Given the description of an element on the screen output the (x, y) to click on. 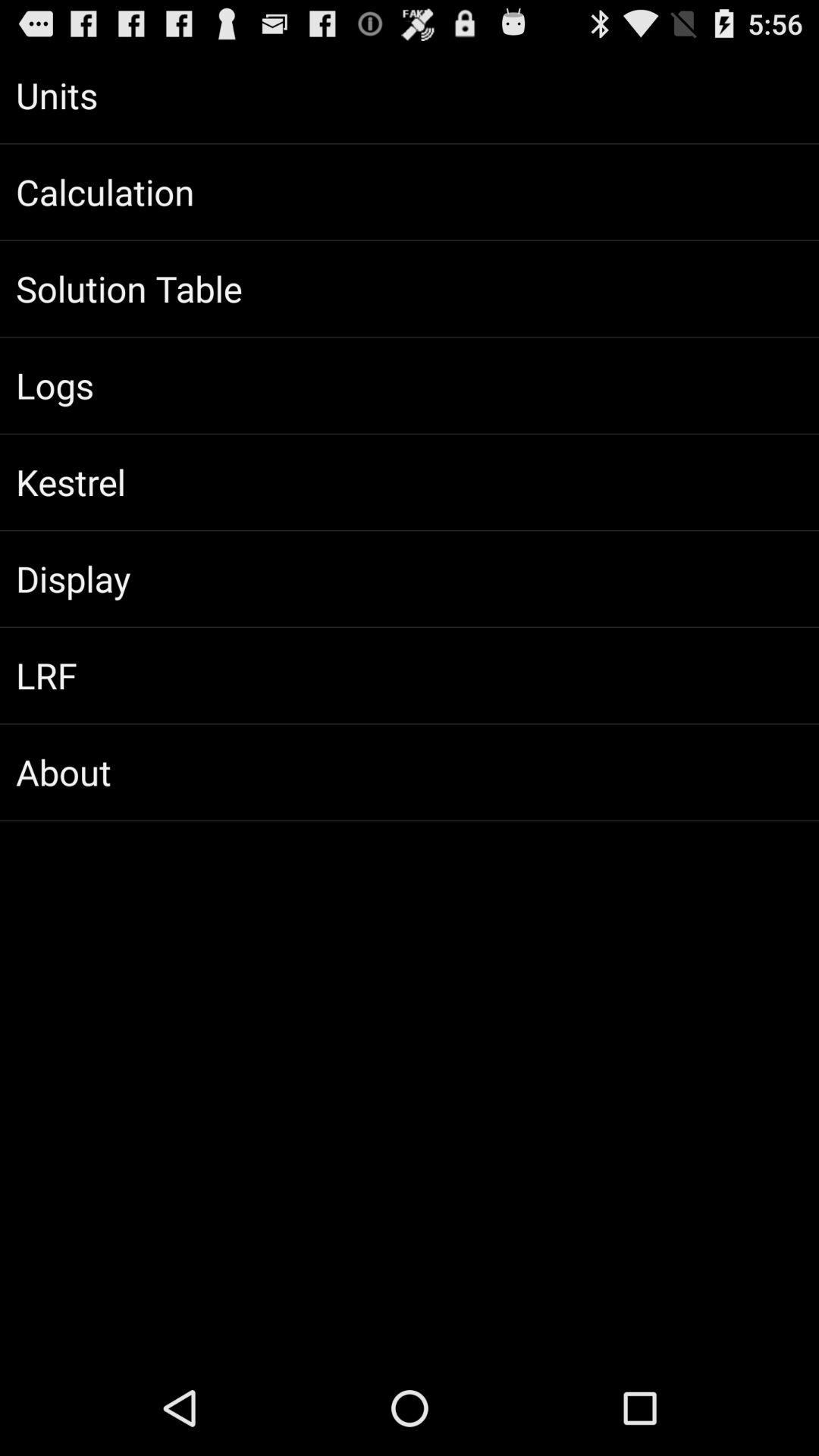
press the item above kestrel app (409, 385)
